Given the description of an element on the screen output the (x, y) to click on. 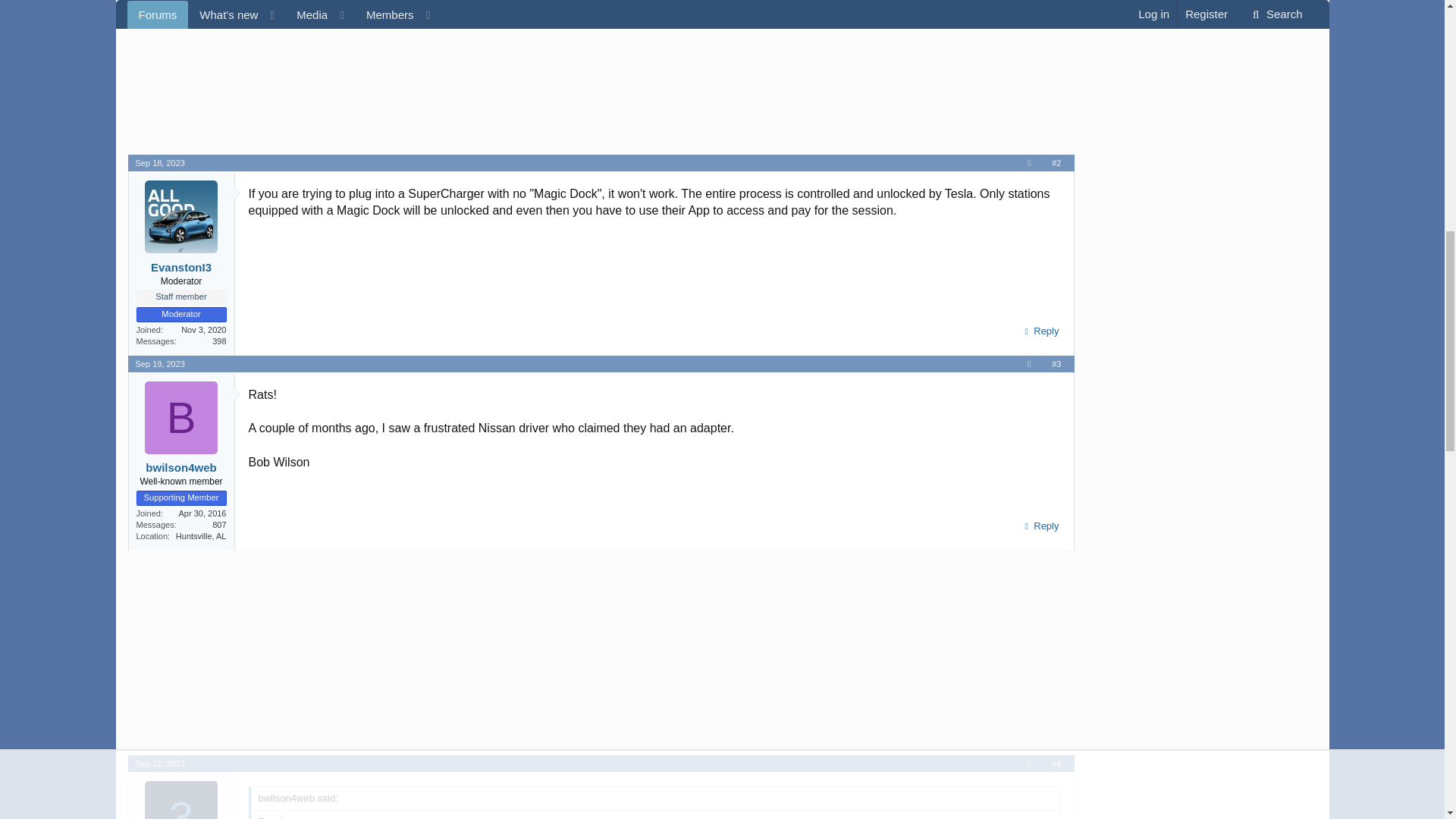
Reply, quoting this message (1039, 331)
Reply, quoting this message (1039, 526)
Sep 18, 2023 at 6:57 AM (159, 162)
Sep 22, 2023 at 4:23 PM (159, 763)
Sep 19, 2023 at 4:20 PM (159, 363)
